Given the description of an element on the screen output the (x, y) to click on. 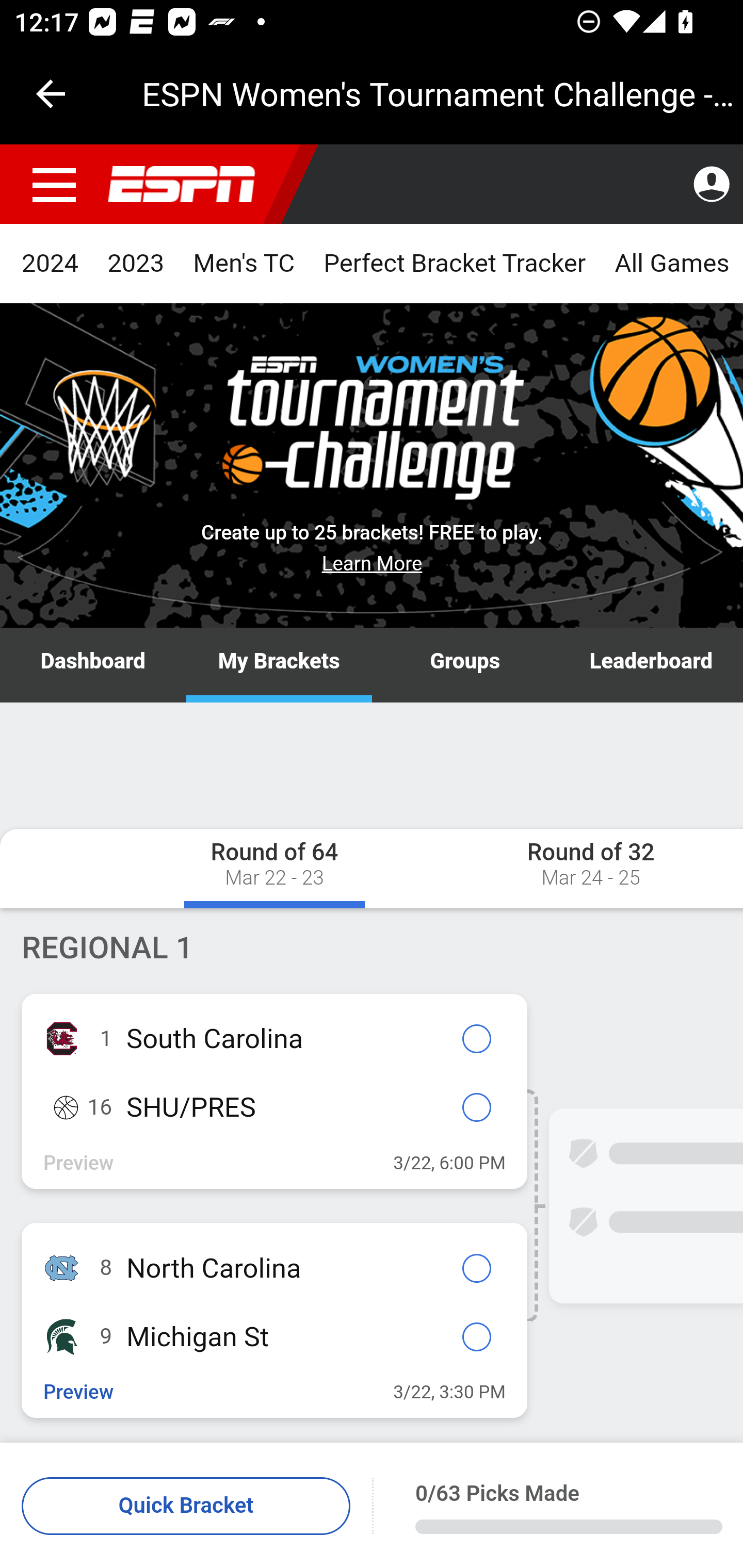
Navigate up (50, 93)
Menu (54, 184)
nav.arialabel.homepage (182, 184)
Profile Management (711, 184)
2024 (50, 264)
2023 (136, 264)
Men's TC (243, 264)
Perfect Bracket Tracker (454, 264)
All Games (671, 264)
Learn More (372, 563)
Dashboard Dashboard Dashboard (93, 666)
My Brackets My Brackets My Brackets (278, 666)
Groups Groups Groups (465, 666)
Leaderboard Leaderboard Leaderboard (649, 666)
Round of 64 Mar 22 - 23 (274, 867)
Round of 32 Mar 24 - 25 (540, 867)
Preview (79, 1392)
Quick Bracket (186, 1506)
